Given the description of an element on the screen output the (x, y) to click on. 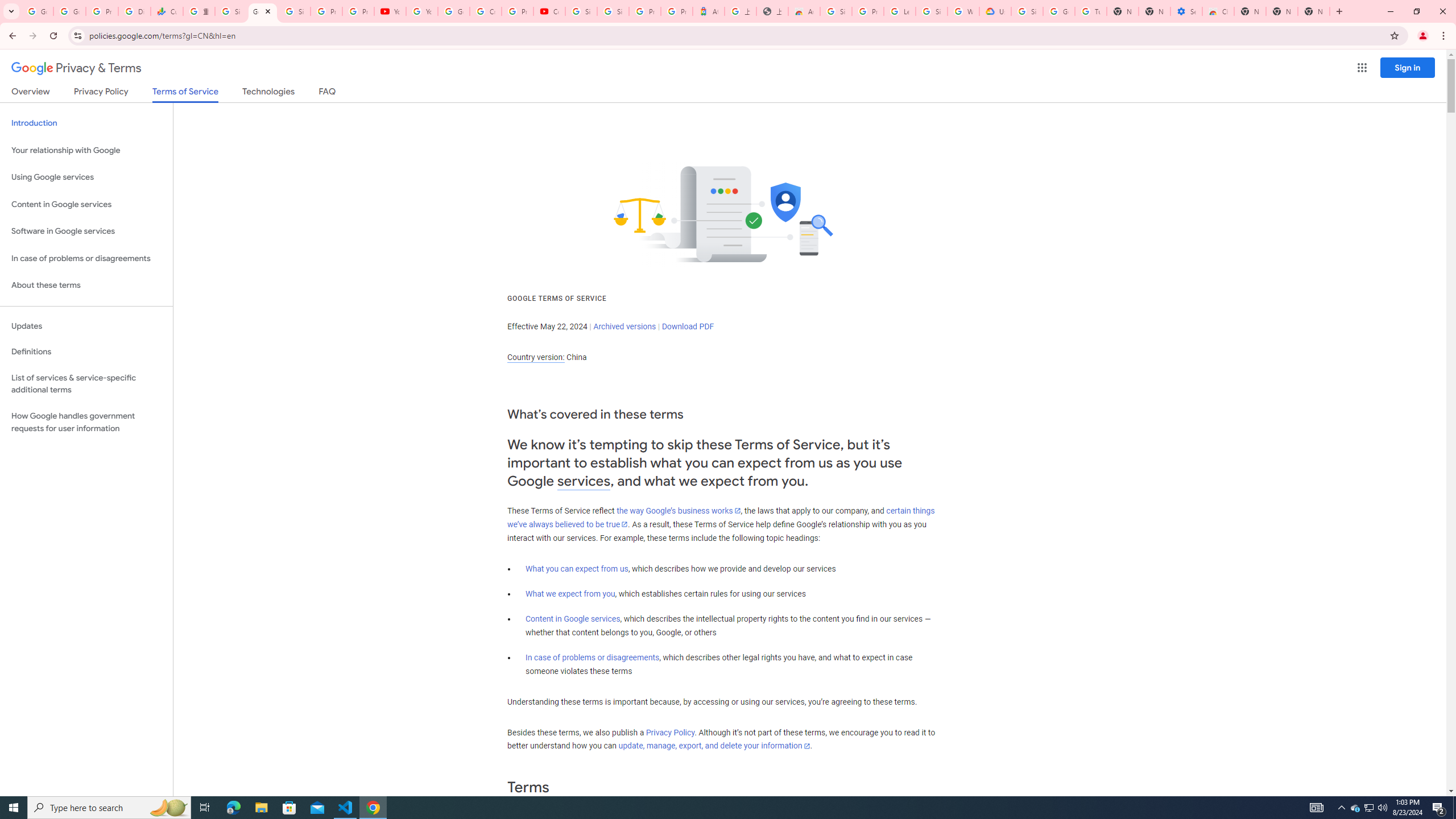
Chrome Web Store - Accessibility extensions (1217, 11)
Privacy & Terms (76, 68)
Updates (86, 325)
Content in Google services (572, 618)
Sign in - Google Accounts (931, 11)
Google Workspace Admin Community (37, 11)
